Given the description of an element on the screen output the (x, y) to click on. 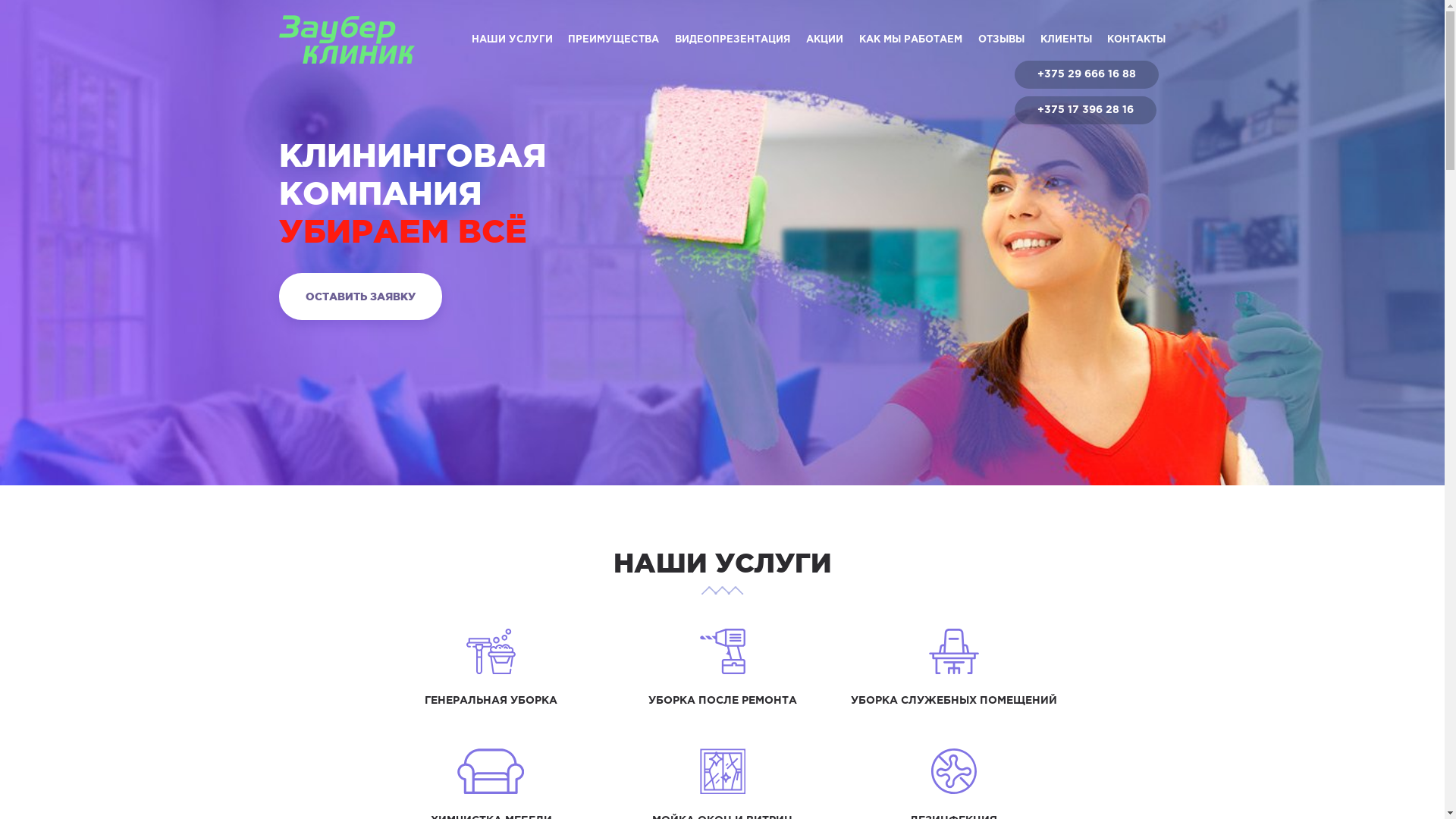
+375 29 666 16 88 Element type: text (1086, 73)
+375 29 666 16 88 Element type: text (1086, 74)
+375 17 396 28 16 Element type: text (1085, 110)
+375 17 396 28 16 Element type: text (1085, 109)
